Given the description of an element on the screen output the (x, y) to click on. 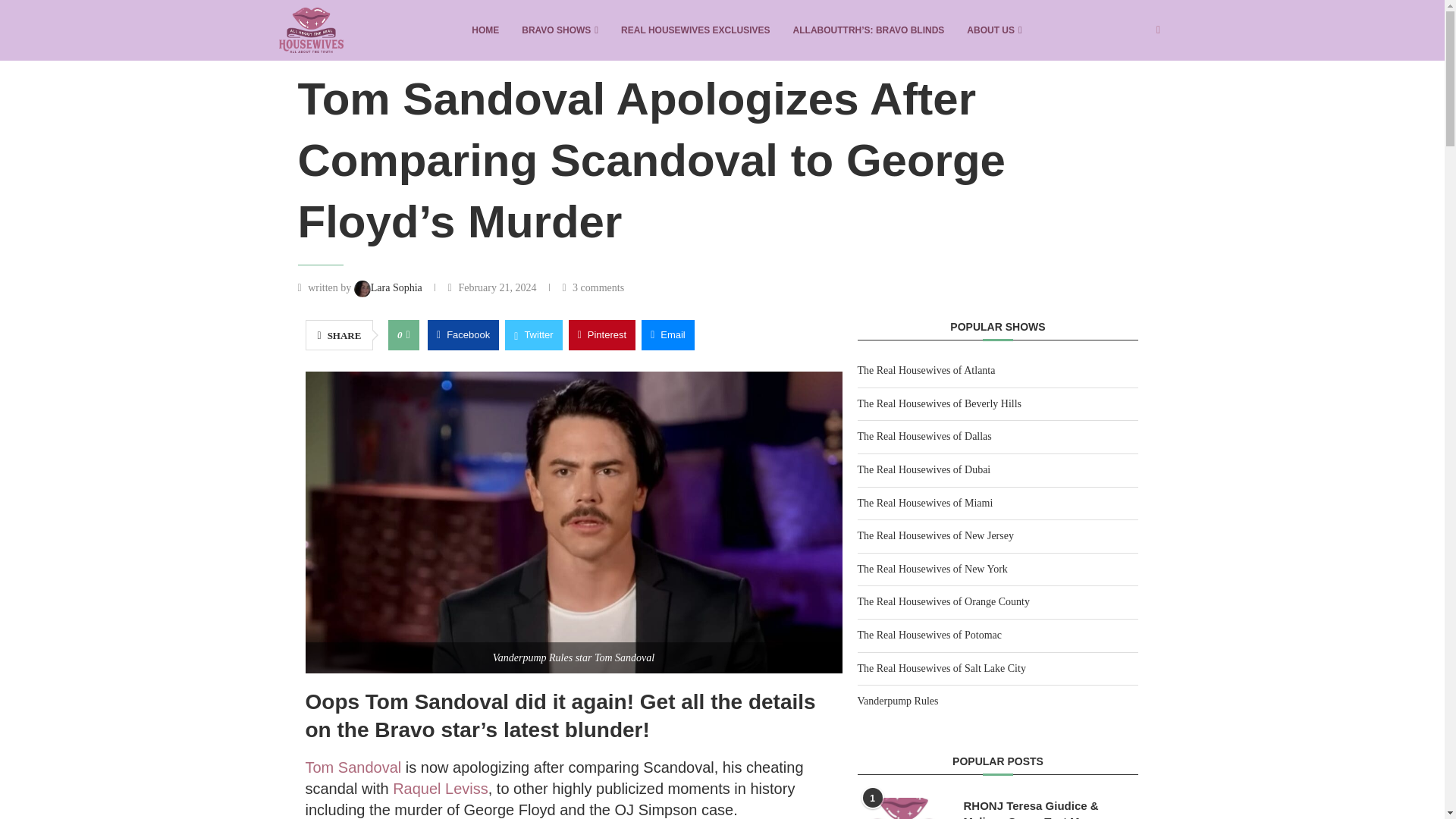
BRAVO SHOWS (559, 30)
